Given the description of an element on the screen output the (x, y) to click on. 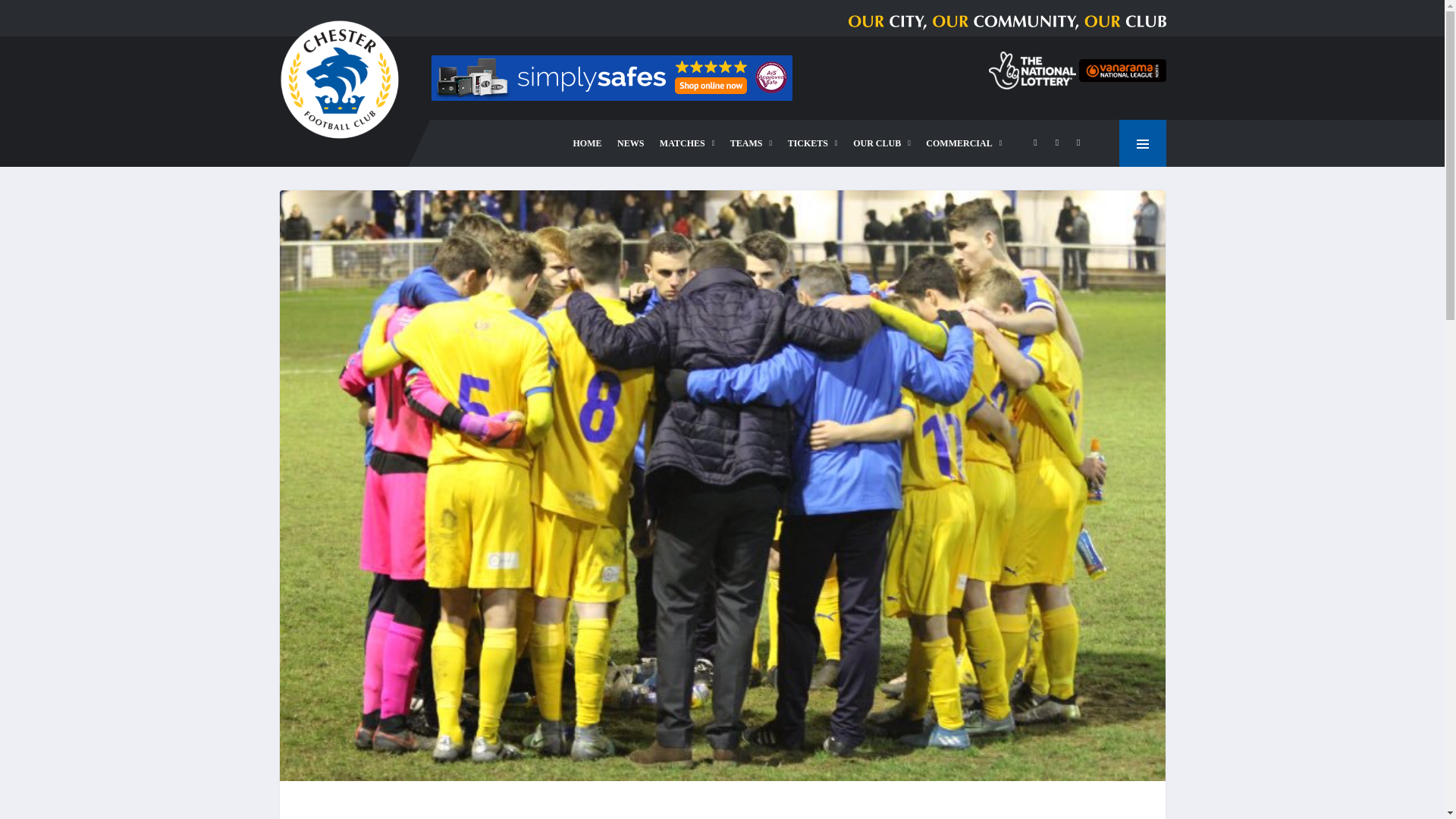
MATCHES (686, 143)
OUR CLUB (882, 143)
NEWS (630, 143)
TICKETS (812, 143)
TEAMS (750, 143)
HOME (587, 143)
